Given the description of an element on the screen output the (x, y) to click on. 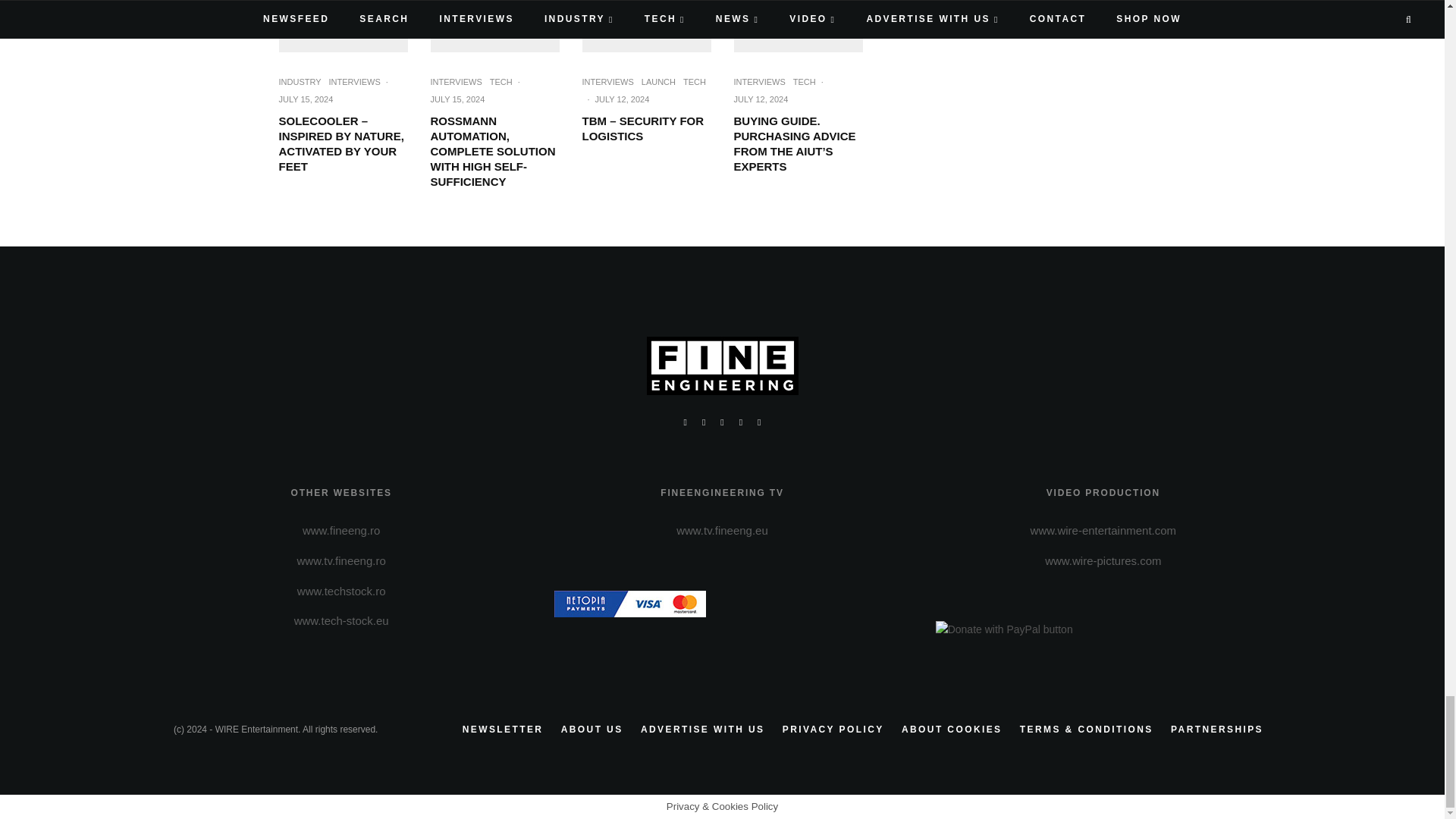
PayPal - The safer, easier way to pay online! (1004, 629)
